Given the description of an element on the screen output the (x, y) to click on. 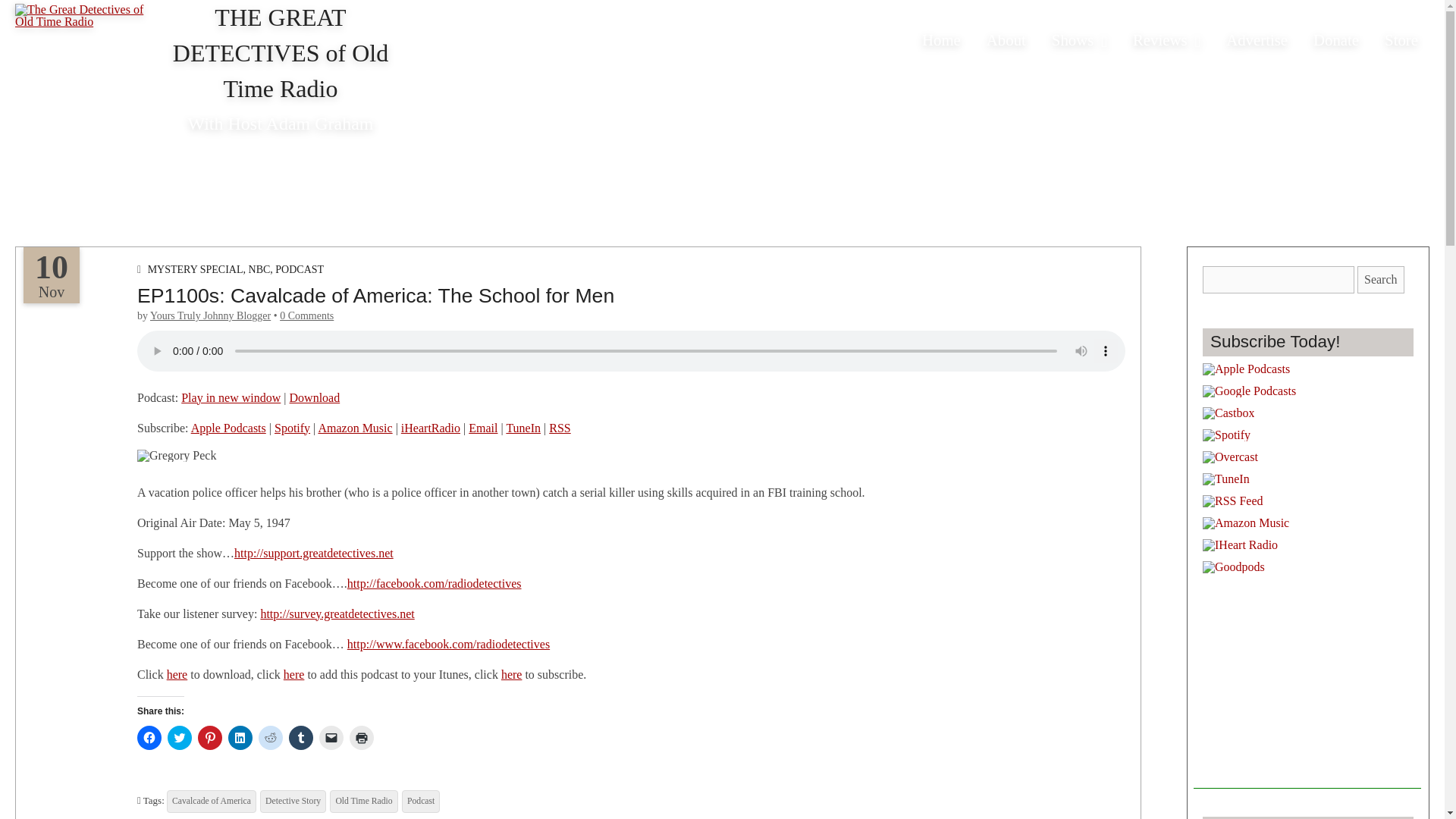
Posts by Yours Truly Johnny Blogger (209, 315)
Click to email a link to a friend (330, 737)
Click to share on Twitter (179, 737)
Click to share on LinkedIn (239, 737)
Shows (1079, 40)
Subscribe on Amazon Music (354, 427)
THE GREAT DETECTIVES of Old Time Radio (280, 53)
Subscribe on iHeartRadio (430, 427)
About (1005, 39)
Subscribe by Email (482, 427)
Click to share on Tumblr (300, 737)
Click to share on Pinterest (210, 737)
Subscribe via RSS (559, 427)
Home (941, 39)
Search (1380, 279)
